Given the description of an element on the screen output the (x, y) to click on. 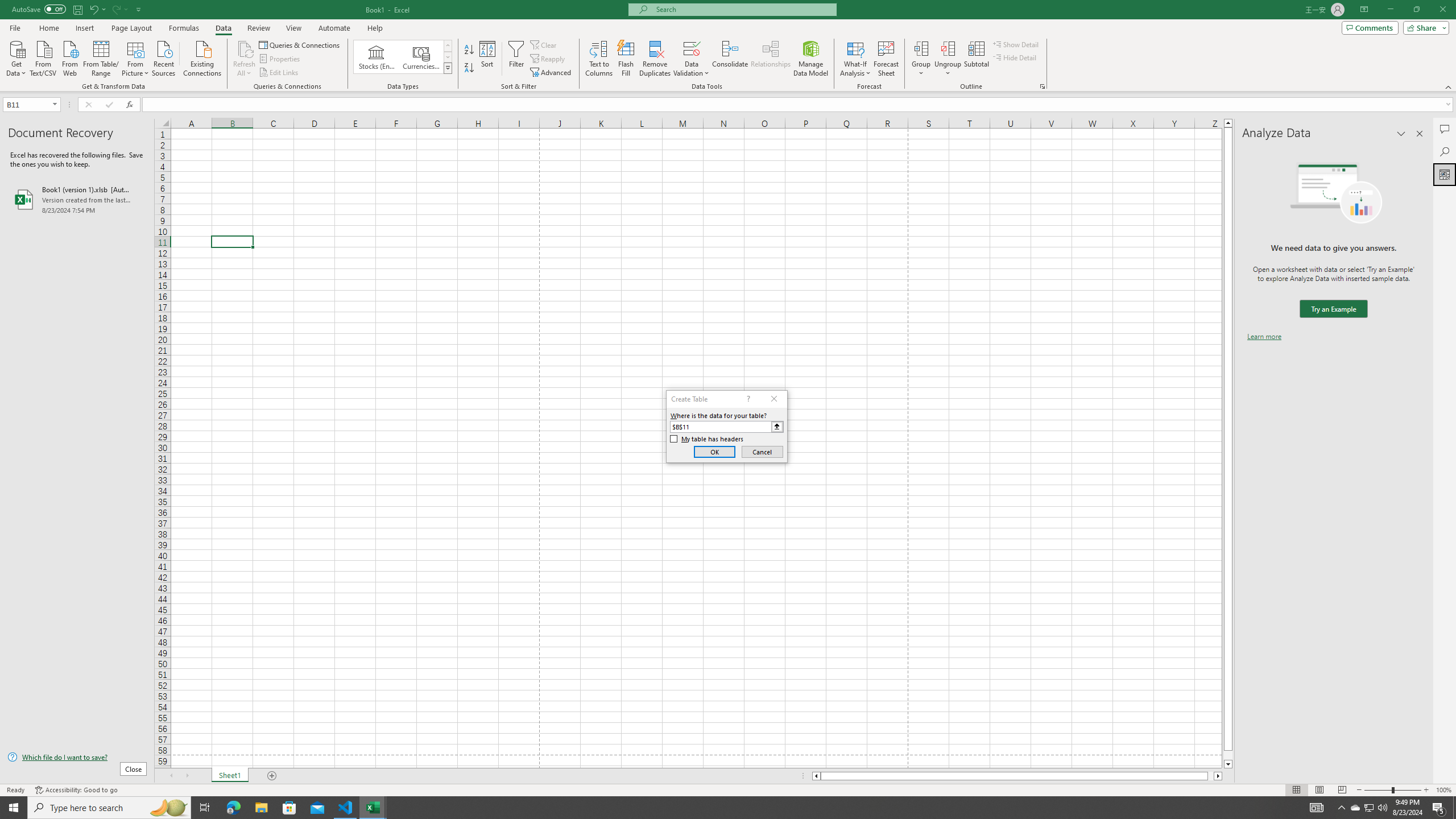
Consolidate... (729, 58)
